Given the description of an element on the screen output the (x, y) to click on. 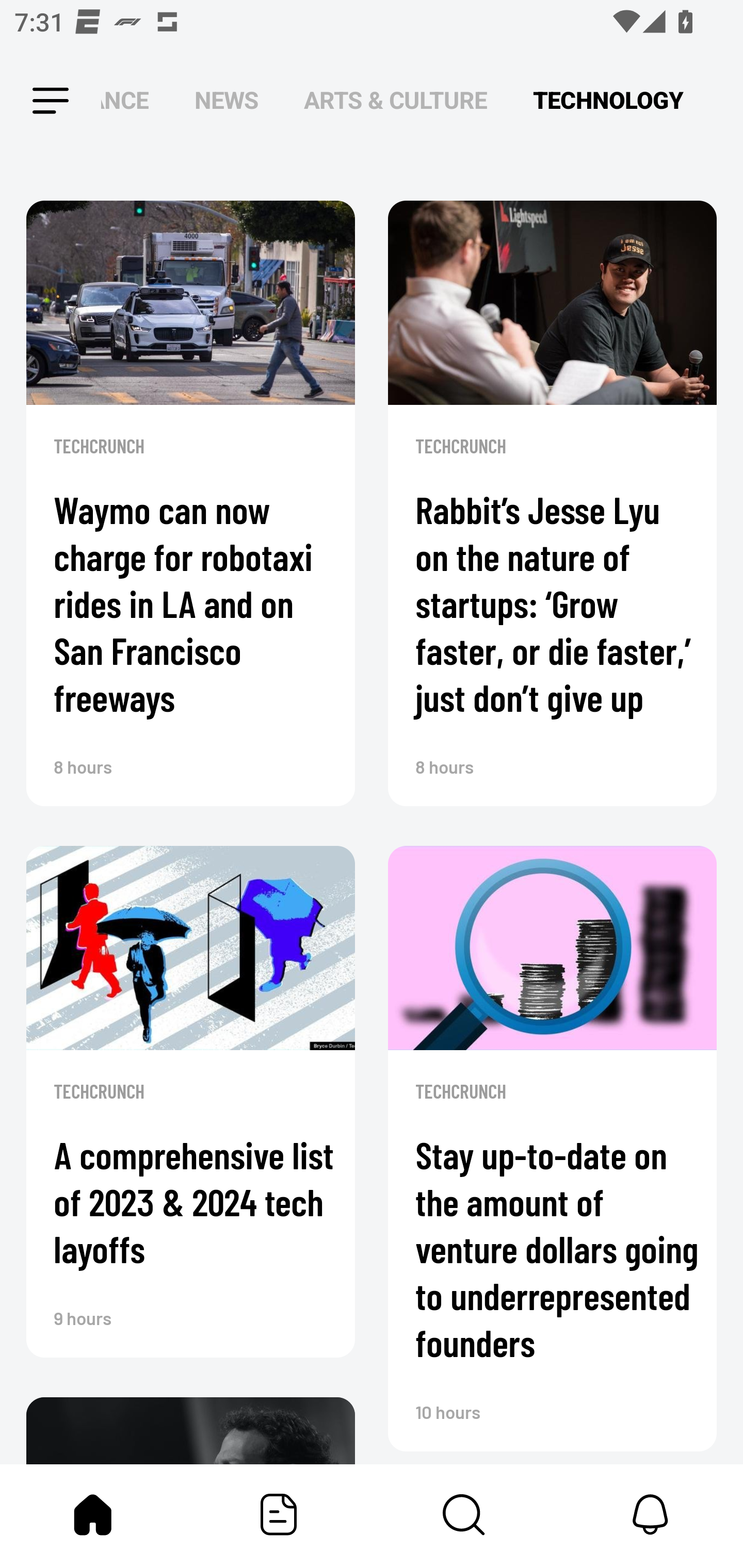
Leading Icon (32, 101)
BUSINESS & FINANCE (125, 100)
NEWS (226, 100)
ARTS & CULTURE (395, 100)
Featured (278, 1514)
Content Store (464, 1514)
Notifications (650, 1514)
